Given the description of an element on the screen output the (x, y) to click on. 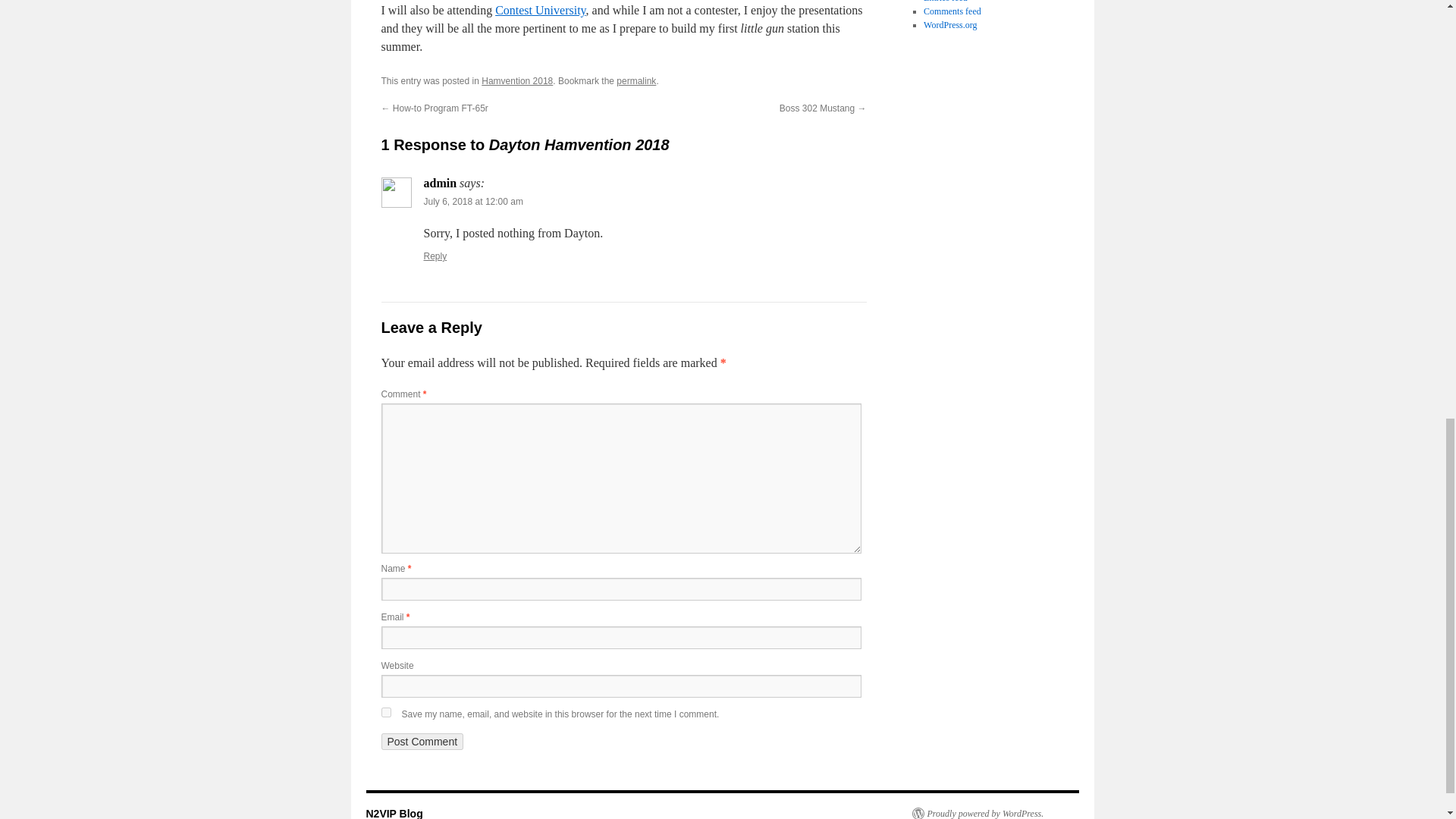
July 6, 2018 at 12:00 am (472, 201)
permalink (635, 81)
Post Comment (421, 741)
Hamvention 2018 (517, 81)
Contest University (540, 10)
Reply (434, 255)
Post Comment (421, 741)
Permalink to Dayton Hamvention 2018 (635, 81)
yes (385, 712)
